Given the description of an element on the screen output the (x, y) to click on. 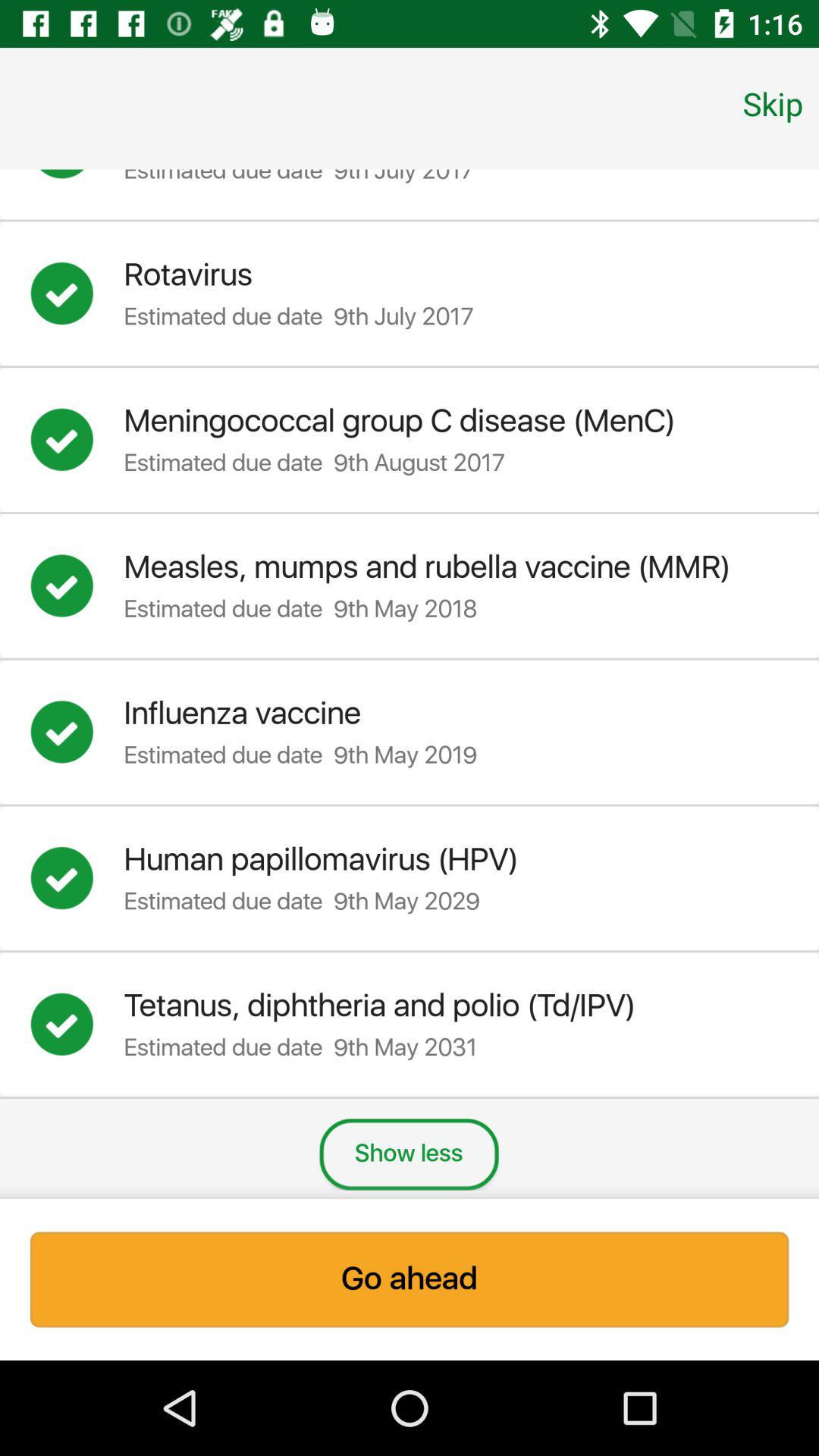
deselect (76, 1024)
